Given the description of an element on the screen output the (x, y) to click on. 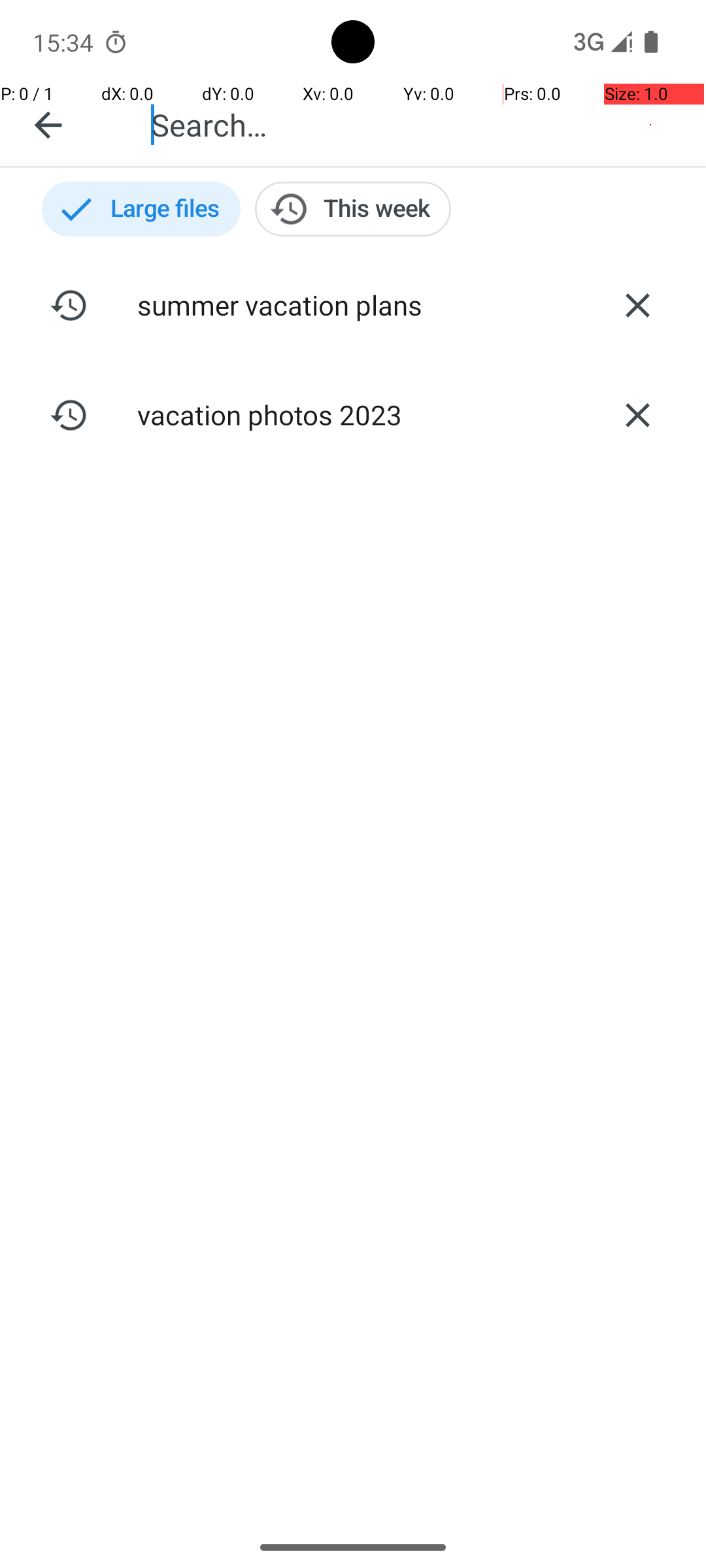
summer vacation plans Element type: android.widget.TextView (352, 304)
Delete search history summer vacation plans Element type: android.widget.ImageView (637, 304)
vacation photos 2023 Element type: android.widget.TextView (352, 414)
Delete search history vacation photos 2023 Element type: android.widget.ImageView (637, 414)
